Given the description of an element on the screen output the (x, y) to click on. 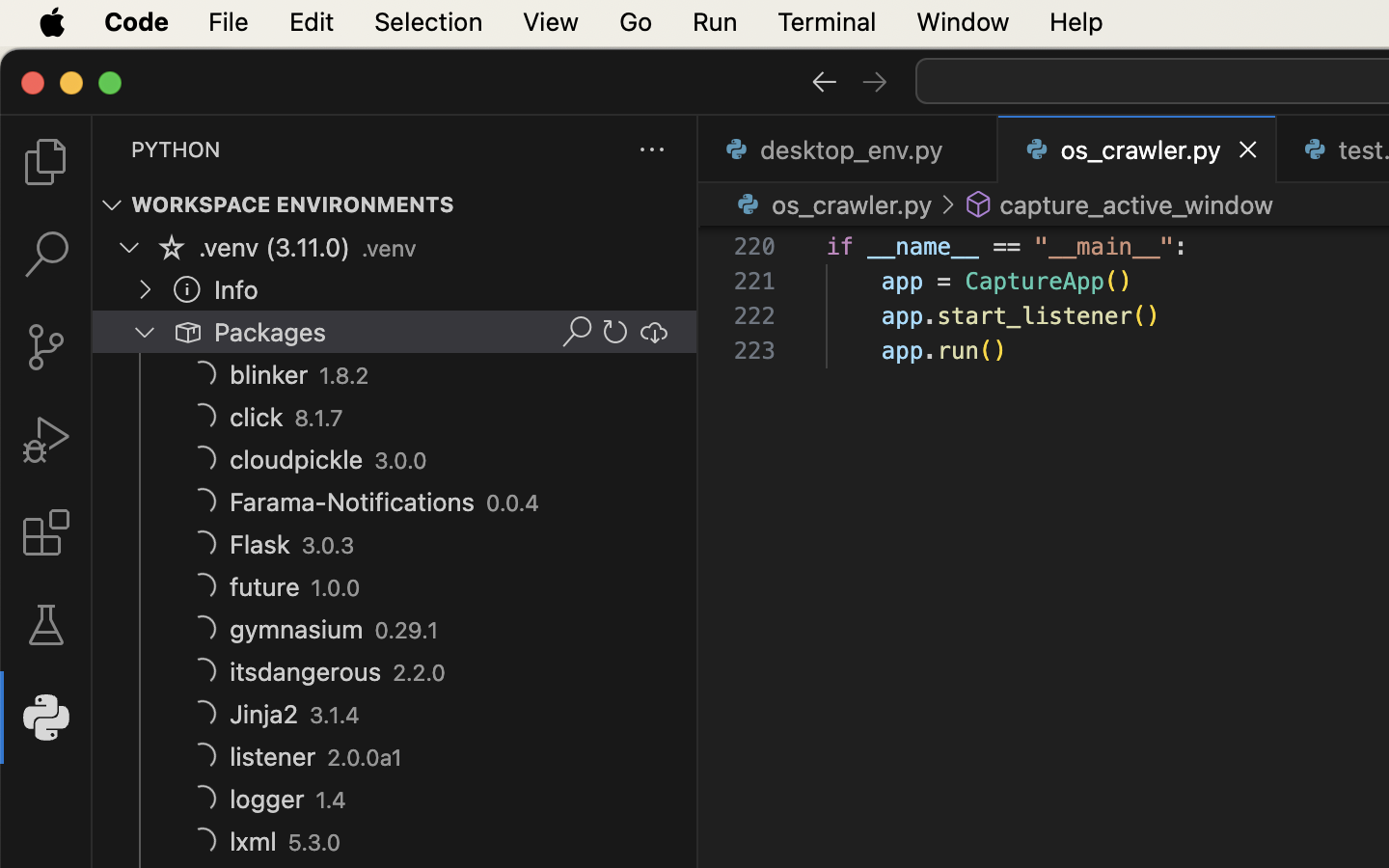
Jinja2 Element type: AXStaticText (264, 714)
listener Element type: AXStaticText (272, 756)
 Element type: AXStaticText (171, 246)
0  Element type: AXRadioButton (46, 624)
1 os_crawler.py   Element type: AXRadioButton (1138, 149)
